Given the description of an element on the screen output the (x, y) to click on. 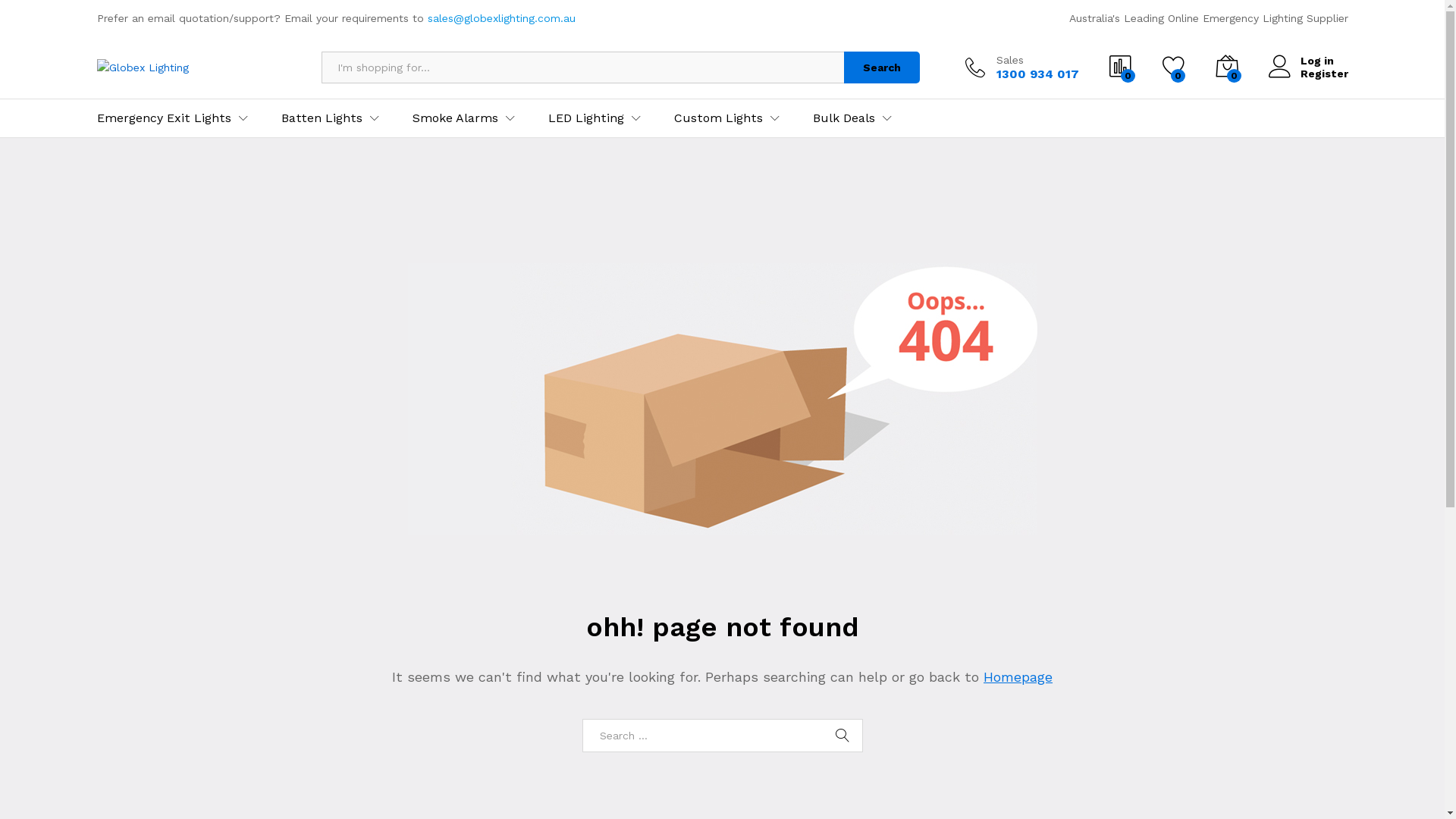
0 Element type: text (1225, 67)
Custom Lights Element type: text (717, 118)
Search Element type: text (843, 735)
sales@globexlighting.com.au Element type: text (501, 18)
LED Lighting Element type: text (585, 118)
Bulk Deals Element type: text (843, 118)
Log in Element type: text (1307, 60)
Search Element type: text (881, 67)
0 Element type: text (1119, 67)
Smoke Alarms Element type: text (455, 118)
Batten Lights Element type: text (320, 118)
Emergency Exit Lights Element type: text (164, 118)
Register Element type: text (1307, 73)
Sales
1300 934 017 Element type: text (1021, 67)
0 Element type: text (1172, 67)
Homepage Element type: text (1017, 676)
